Given the description of an element on the screen output the (x, y) to click on. 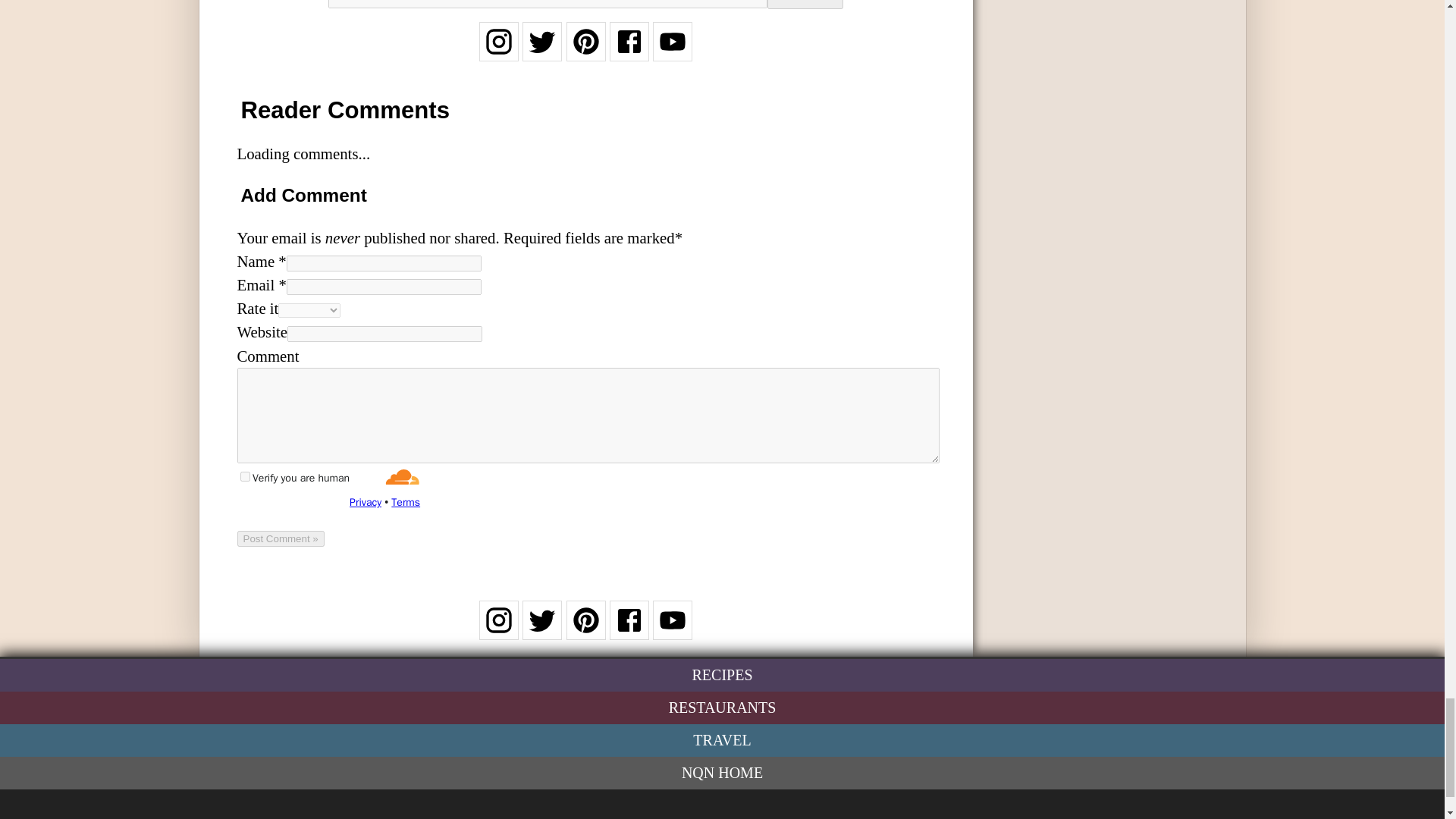
Follow on Facebook (629, 629)
Follow on YouTube (672, 50)
Follow on Instagram (498, 629)
Follow on Facebook (629, 50)
Search (805, 4)
Follow on Twitter (542, 629)
Follow on Pinterest (584, 629)
Follow on Instagram (498, 50)
Follow on Pinterest (584, 50)
Search (805, 4)
Follow on YouTube (672, 629)
Follow on Twitter (542, 50)
